Given the description of an element on the screen output the (x, y) to click on. 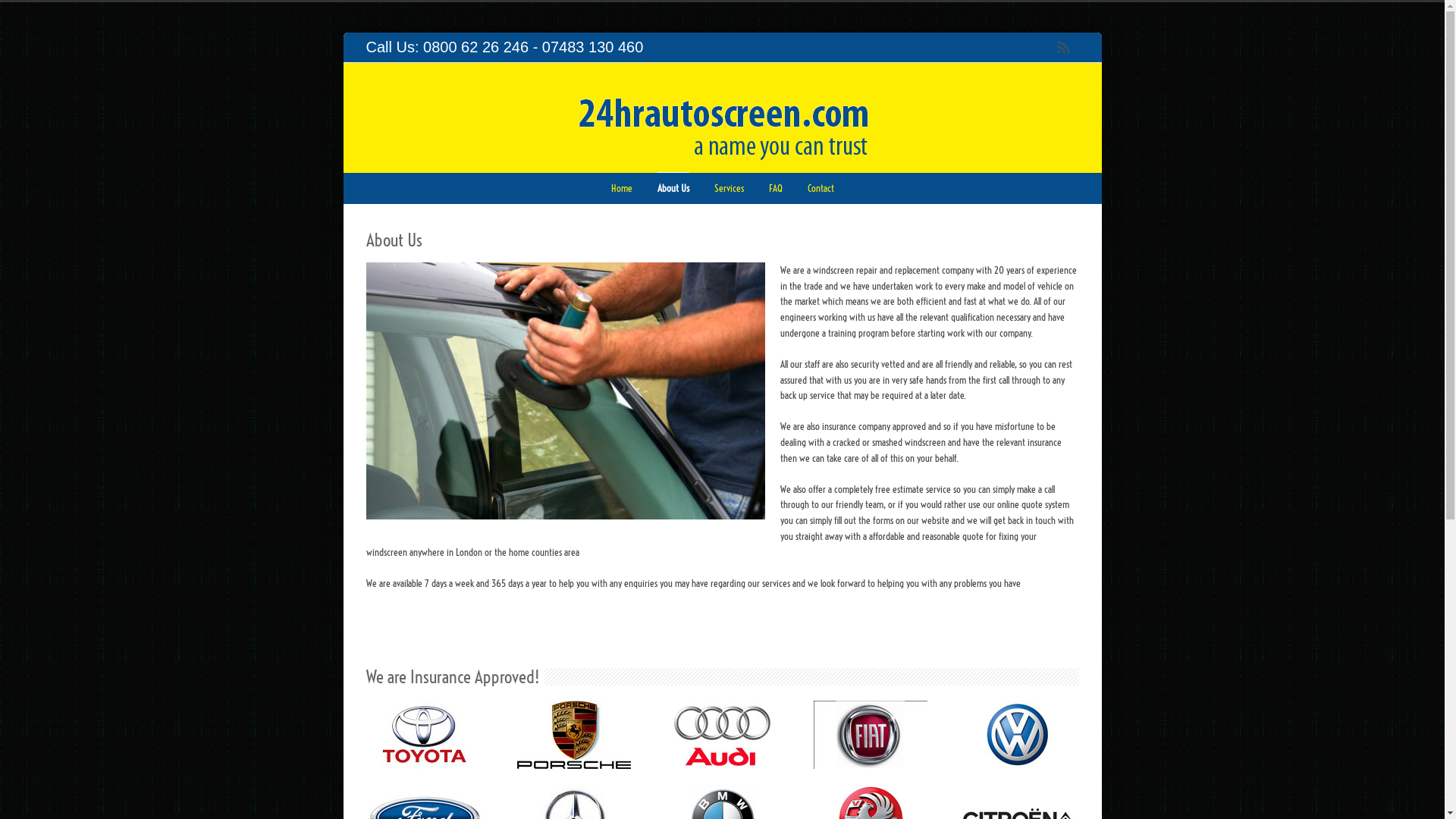
Home Element type: text (621, 187)
FAQ Element type: text (775, 187)
About Us Element type: text (672, 187)
Services Element type: text (728, 187)
Contact Element type: text (819, 187)
RSS Element type: text (1063, 47)
